Given the description of an element on the screen output the (x, y) to click on. 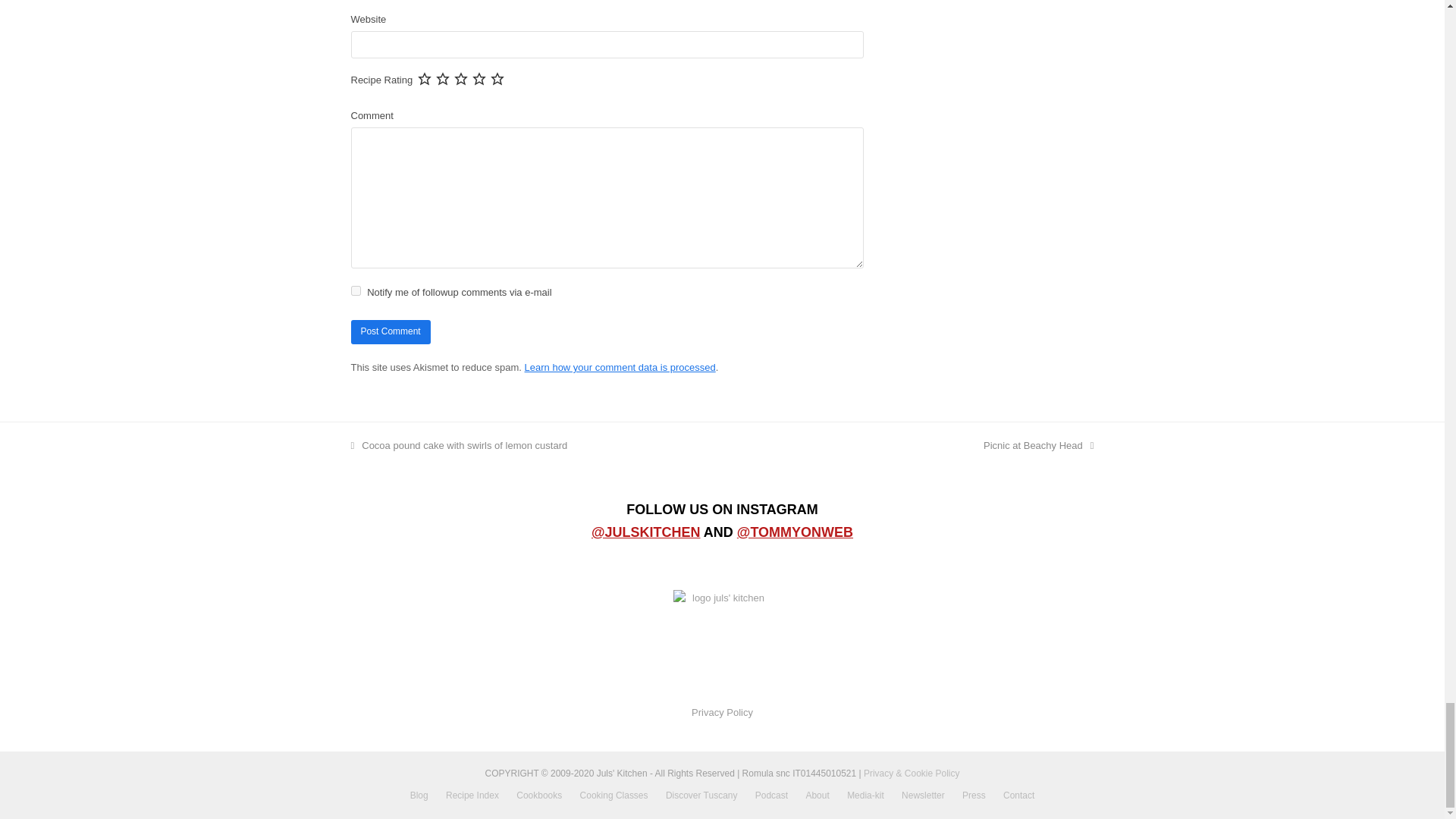
Post Comment (389, 332)
subscribe (354, 290)
